Given the description of an element on the screen output the (x, y) to click on. 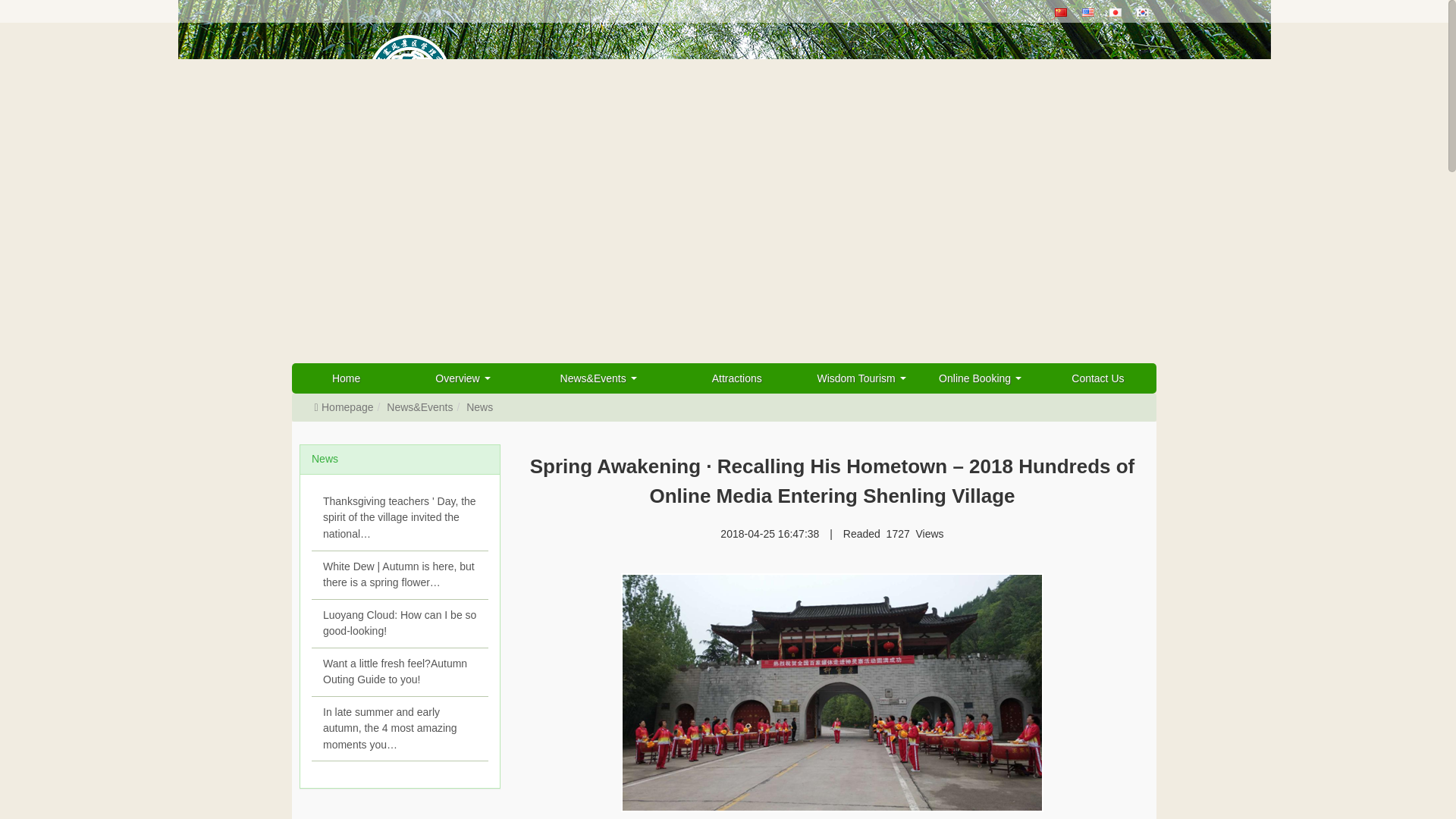
Online Booking (979, 378)
Overview (462, 378)
News (479, 407)
Home (346, 378)
Wisdom Tourism (861, 378)
Online Booking (979, 378)
Contact Us (1097, 378)
Attractions (736, 378)
Overview (462, 378)
Homepage (342, 407)
Home (346, 378)
Wisdom Tourism (861, 378)
Attractions (736, 378)
Luoyang Cloud: How can I be so good-looking! (399, 623)
Want a little fresh feel?Autumn Outing Guide to you! (399, 672)
